Given the description of an element on the screen output the (x, y) to click on. 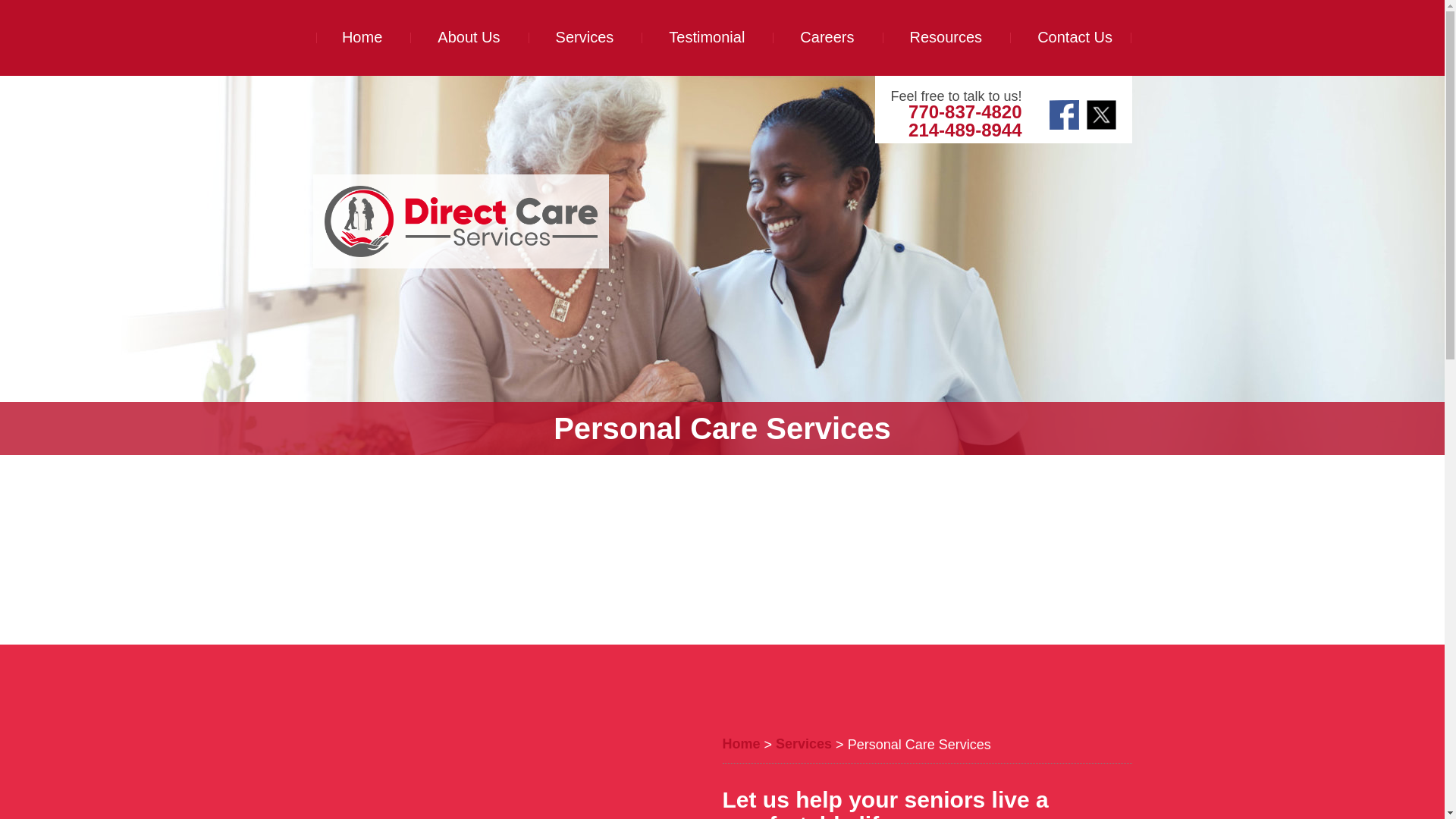
Services (803, 744)
Resources (946, 37)
Testimonial (706, 37)
About Us (468, 37)
Home (361, 37)
Go to Services. (803, 744)
Contact Us (1069, 37)
Services (584, 37)
Careers (826, 37)
Go to Home. (741, 744)
